Given the description of an element on the screen output the (x, y) to click on. 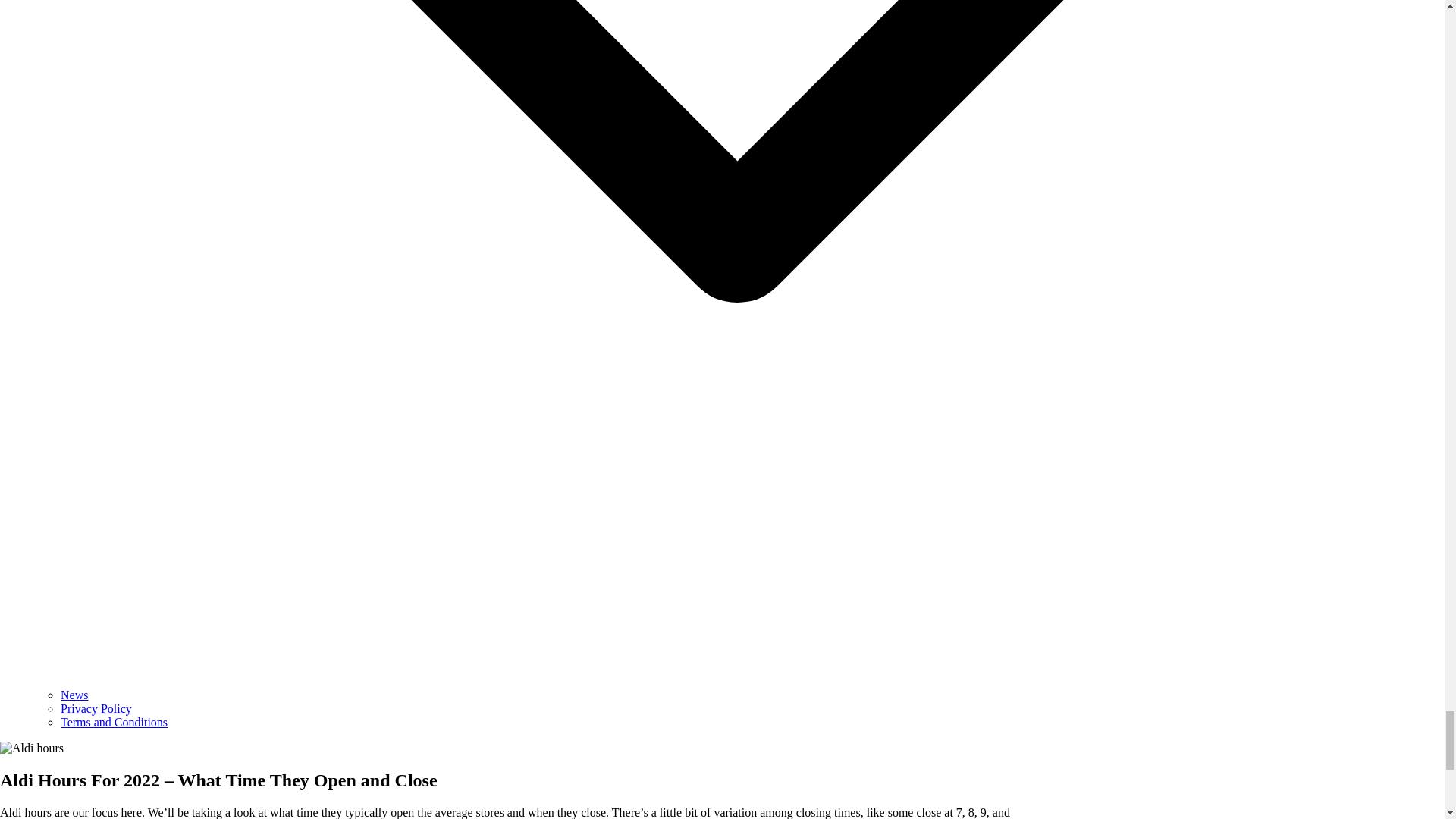
News (74, 694)
Terms and Conditions (114, 721)
Privacy Policy (96, 707)
